Given the description of an element on the screen output the (x, y) to click on. 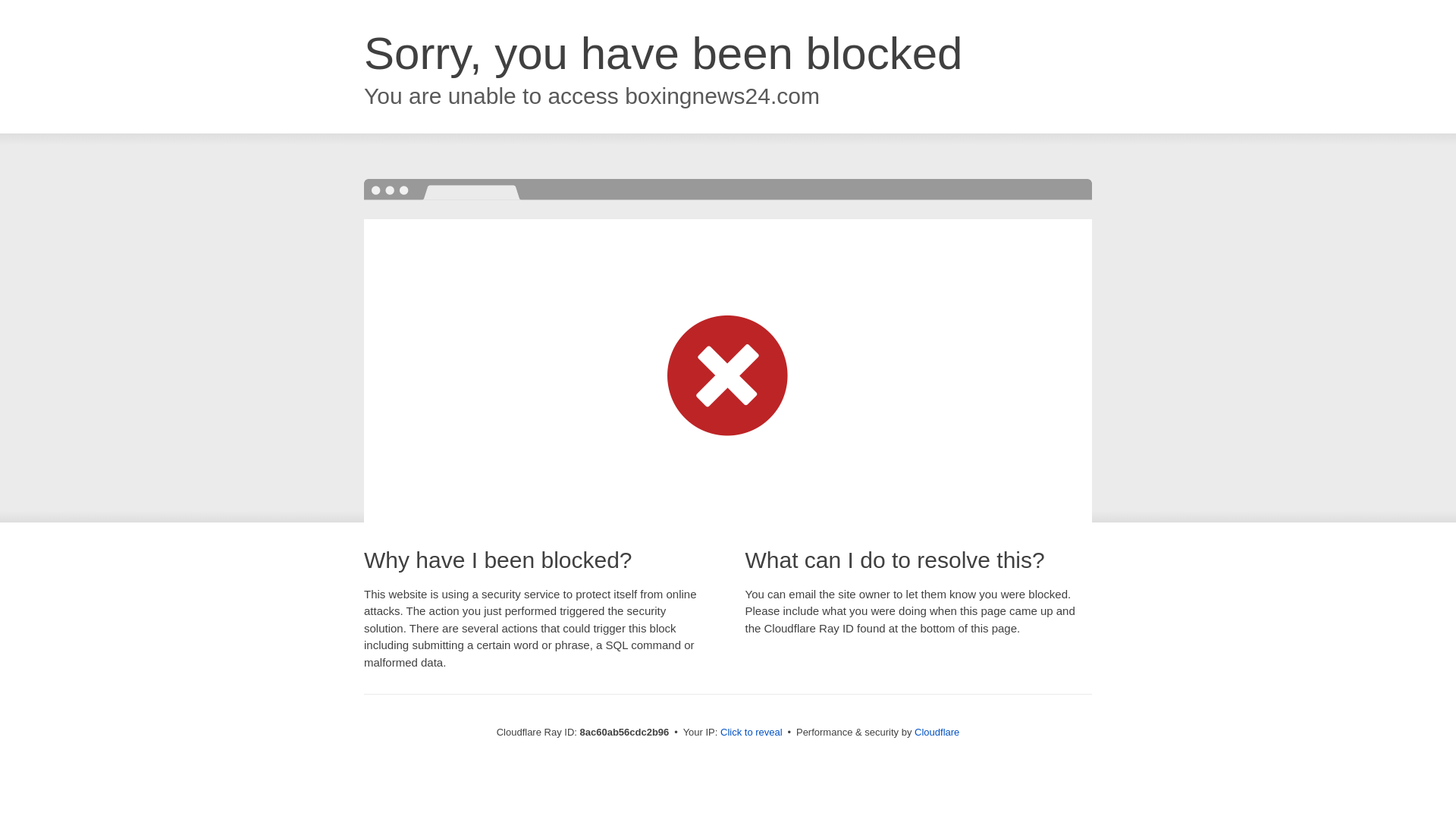
Click to reveal (751, 732)
Cloudflare (936, 731)
